Given the description of an element on the screen output the (x, y) to click on. 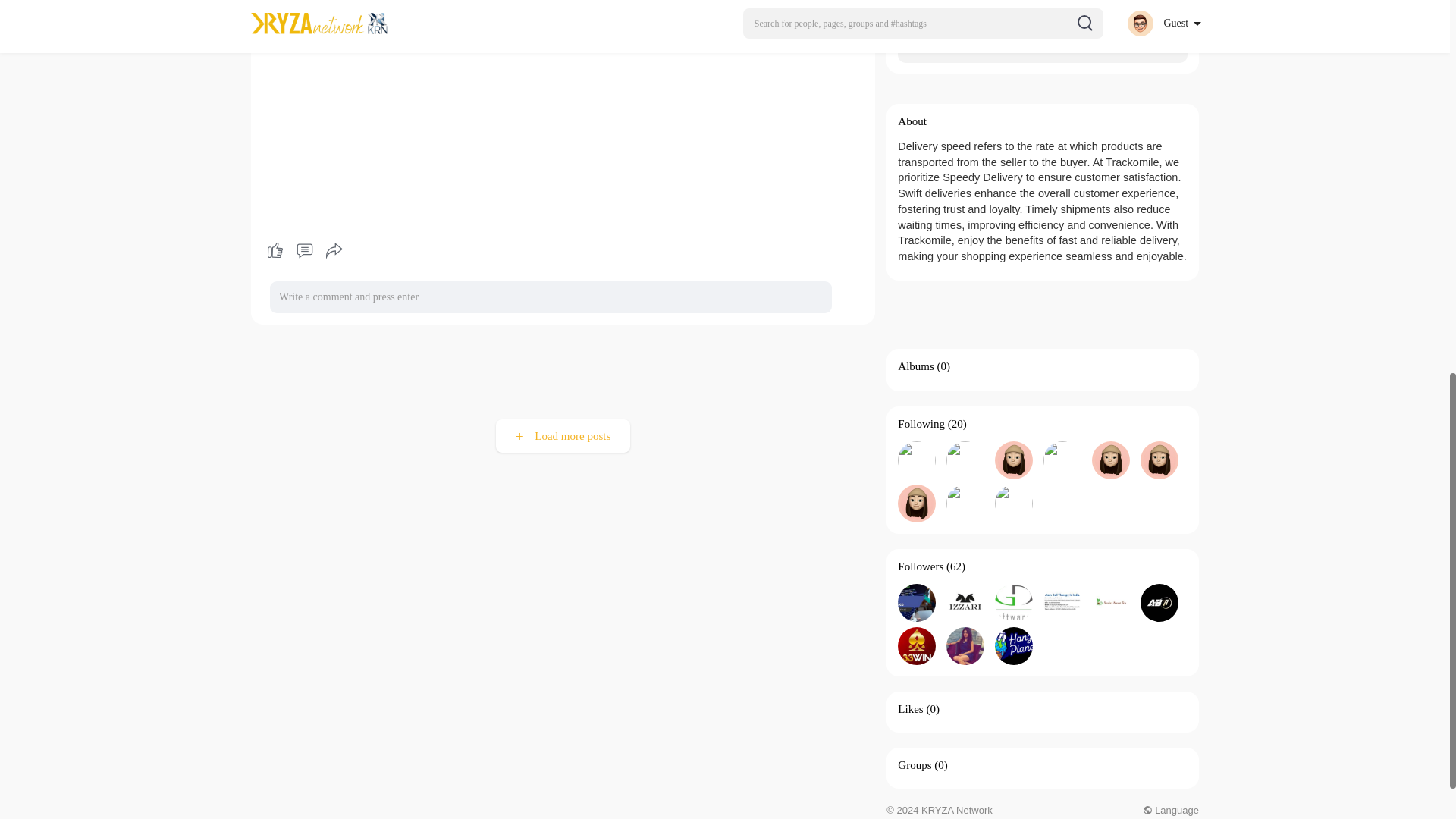
Advertisement (562, 373)
Followers (920, 566)
Albums (916, 366)
Comments (304, 250)
Following (921, 423)
Advertisement (1042, 314)
Share (334, 250)
